Given the description of an element on the screen output the (x, y) to click on. 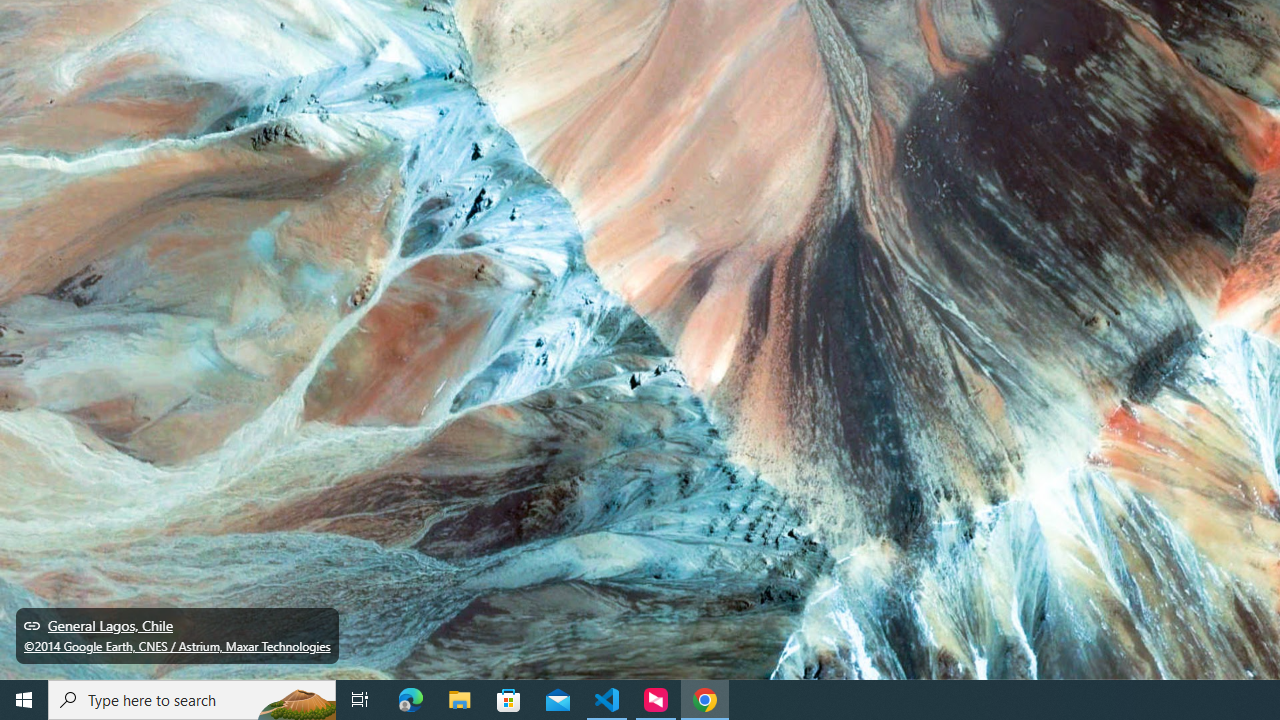
Start (24, 699)
Task View (359, 699)
Search highlights icon opens search home window (295, 699)
Visual Studio Code - 1 running window (607, 699)
Microsoft Store (509, 699)
Google Chrome - 1 running window (704, 699)
File Explorer (460, 699)
Type here to search (191, 699)
Microsoft Edge (411, 699)
